Given the description of an element on the screen output the (x, y) to click on. 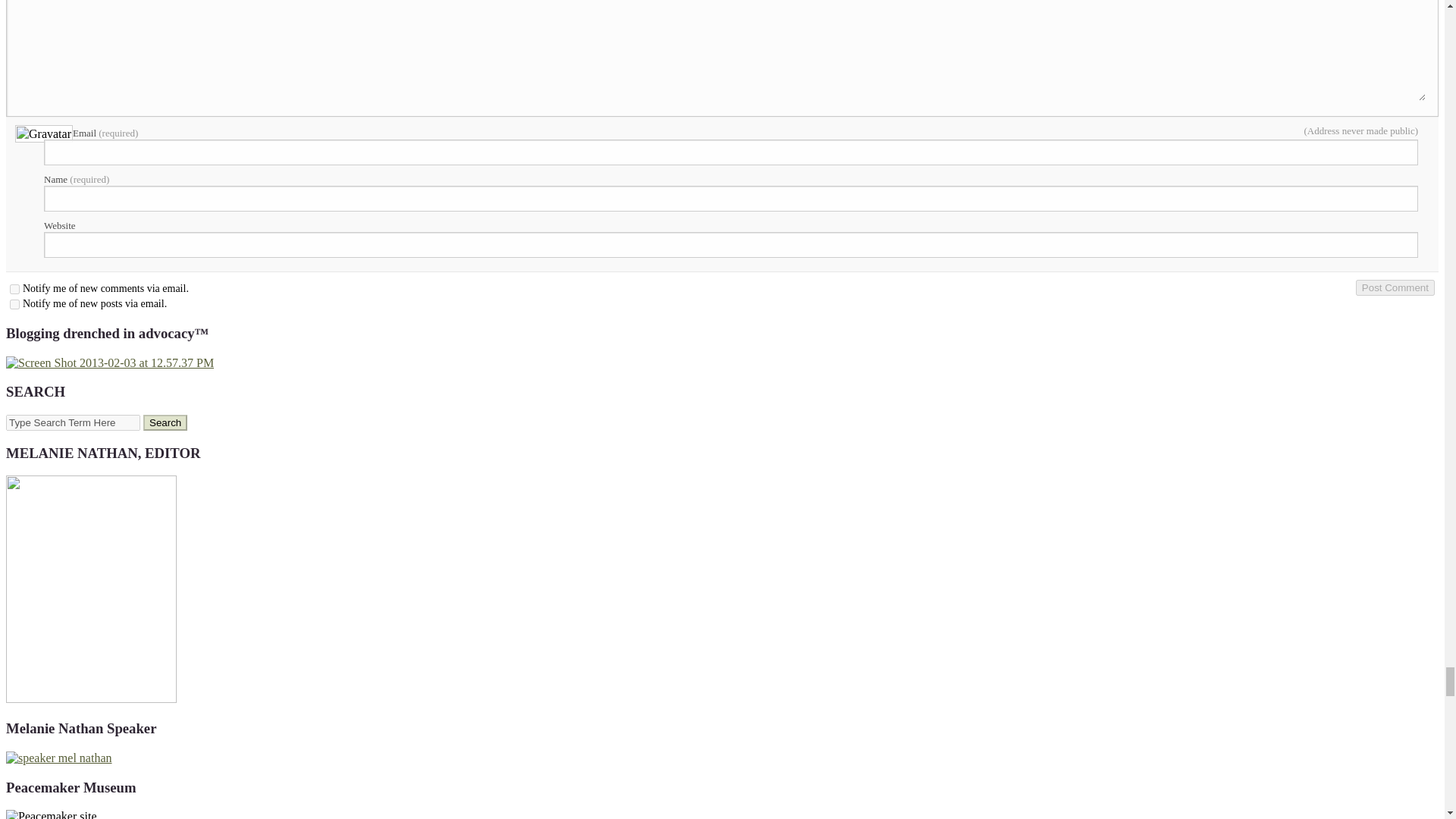
Search (164, 422)
subscribe (15, 289)
subscribe (15, 304)
Type Search Term Here (72, 422)
